Given the description of an element on the screen output the (x, y) to click on. 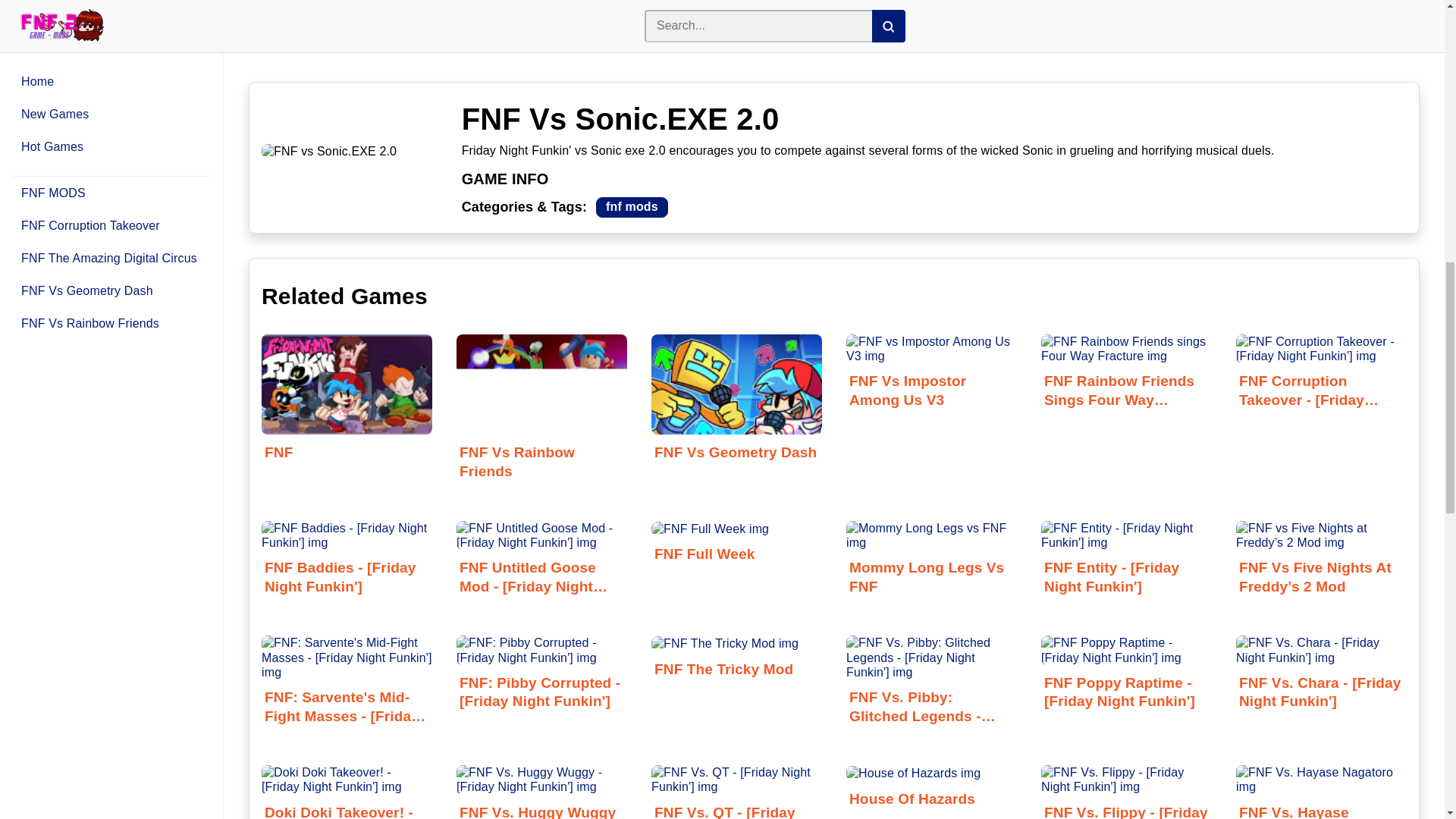
FNF (347, 384)
FNF Rainbow Friends Sings Four Way Fracture (1126, 376)
FNF Vs Geometry Dash (736, 421)
FNF The Tricky Mod (736, 658)
FNF MODS (631, 207)
FNF vs Geometry Dash (736, 421)
FNF (347, 421)
FNF Full Week (736, 544)
Mommy Long Legs Vs FNF (930, 562)
FNF Vs Rainbow Friends (542, 430)
FNF Vs Impostor Among Us V3 (930, 376)
FNF vs Sonic.EXE 2.0 (329, 151)
fnf mods (631, 207)
FNF Vs Rainbow Friends (542, 384)
FNF (347, 421)
